Given the description of an element on the screen output the (x, y) to click on. 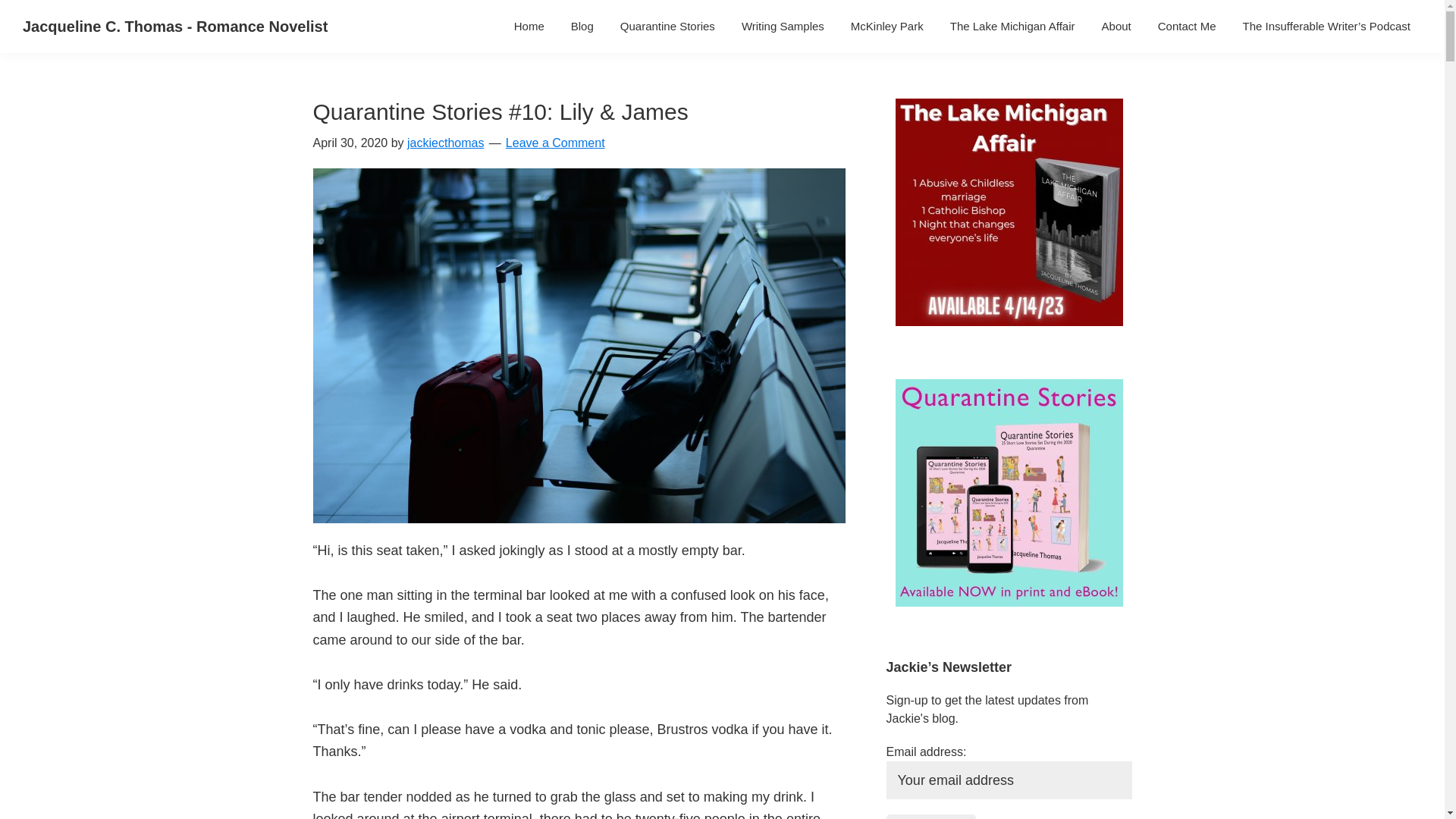
Sign up (930, 816)
Jacqueline C. Thomas - Romance Novelist (175, 26)
jackiecthomas (445, 142)
Quarantine Stories (667, 25)
Writing Samples (782, 25)
Contact Me (1187, 25)
About (1116, 25)
Home (529, 25)
Blog (582, 25)
McKinley Park (887, 25)
Sign up (930, 816)
The Lake Michigan Affair (1012, 25)
Leave a Comment (555, 142)
